Given the description of an element on the screen output the (x, y) to click on. 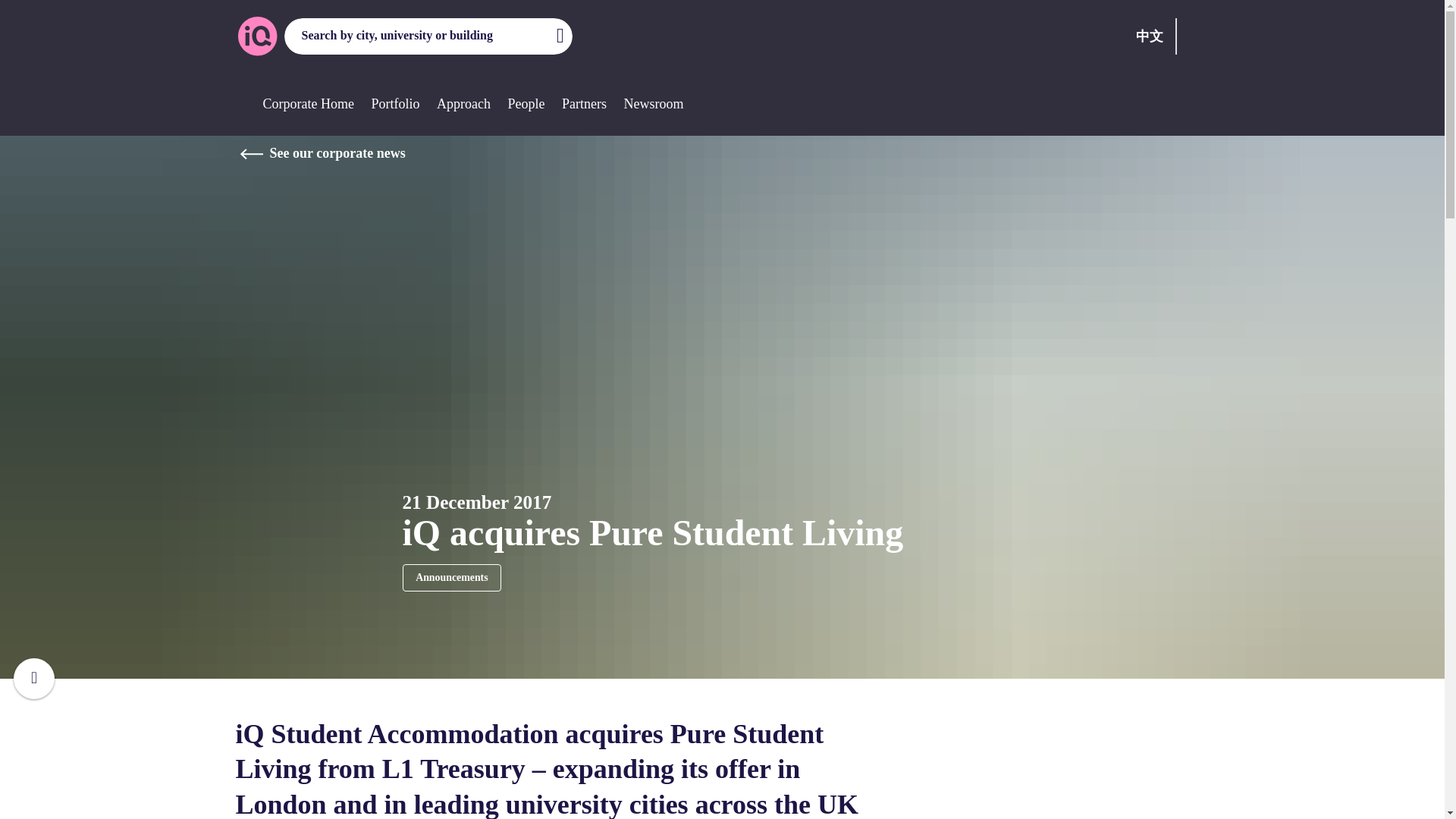
Corporate Home (307, 102)
Newsroom (652, 102)
Approach (463, 102)
Partners (584, 102)
Portfolio (395, 102)
Newsroom (652, 102)
People (525, 102)
Portfolio (395, 102)
Corporate Home (307, 102)
